Given the description of an element on the screen output the (x, y) to click on. 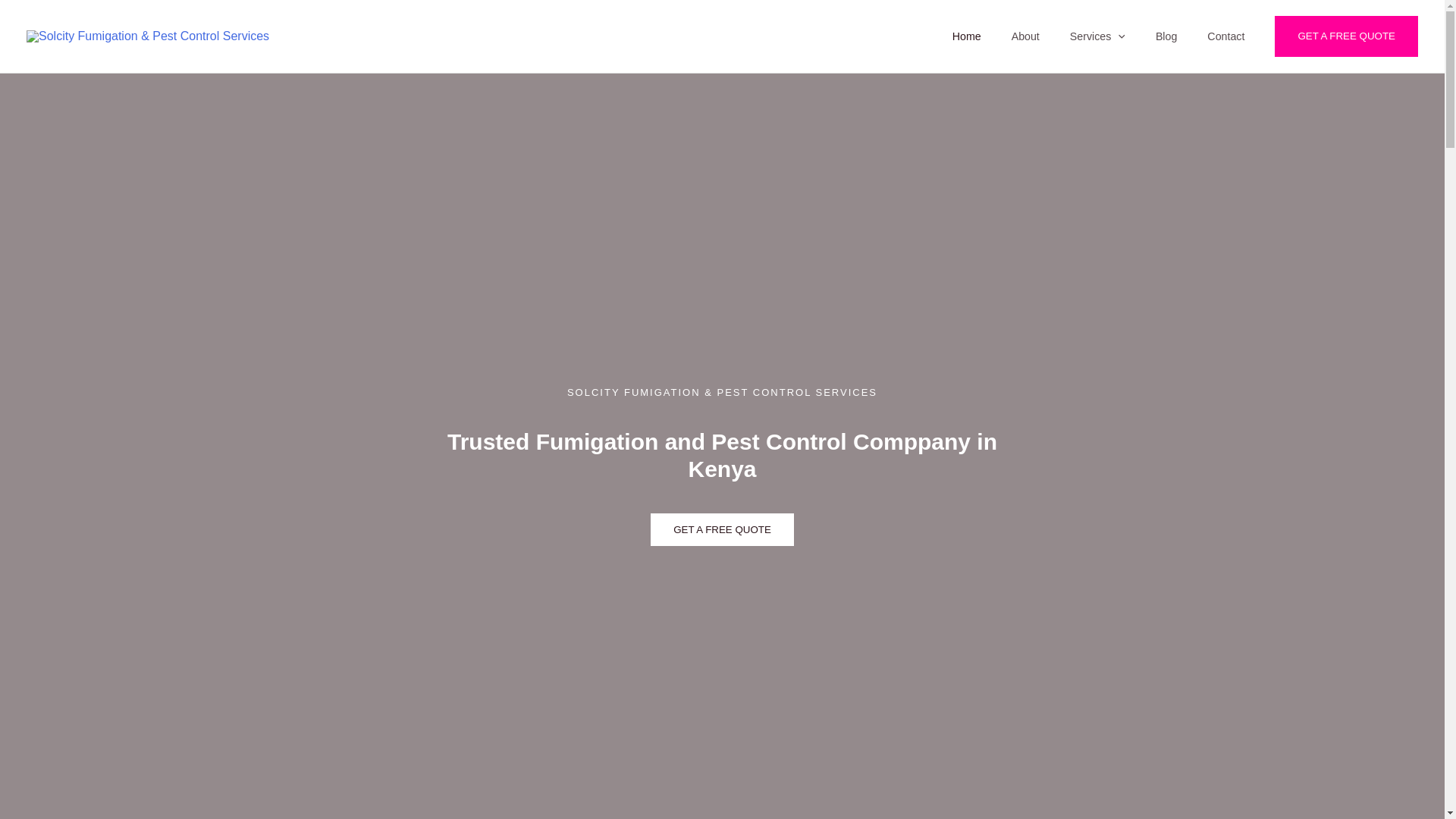
Contact (1225, 36)
Services (1097, 36)
Blog (1166, 36)
GET A FREE QUOTE (1346, 36)
About (1024, 36)
Home (966, 36)
